Given the description of an element on the screen output the (x, y) to click on. 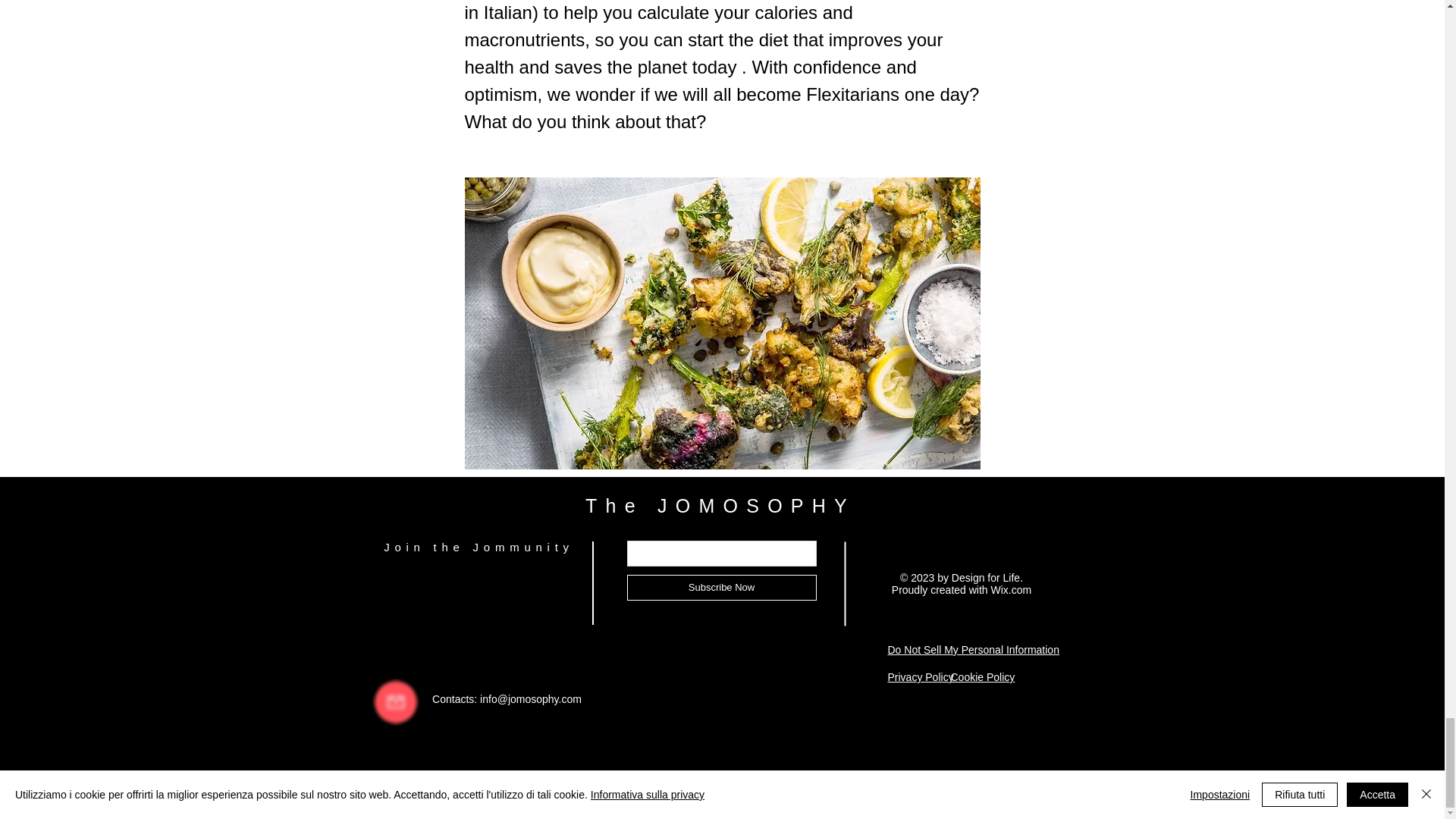
Join the Jommunity (478, 546)
Subscribe Now (720, 587)
The JOMOSOPHY (720, 505)
Do Not Sell My Personal Information (972, 650)
Wix.com (1011, 589)
